Given the description of an element on the screen output the (x, y) to click on. 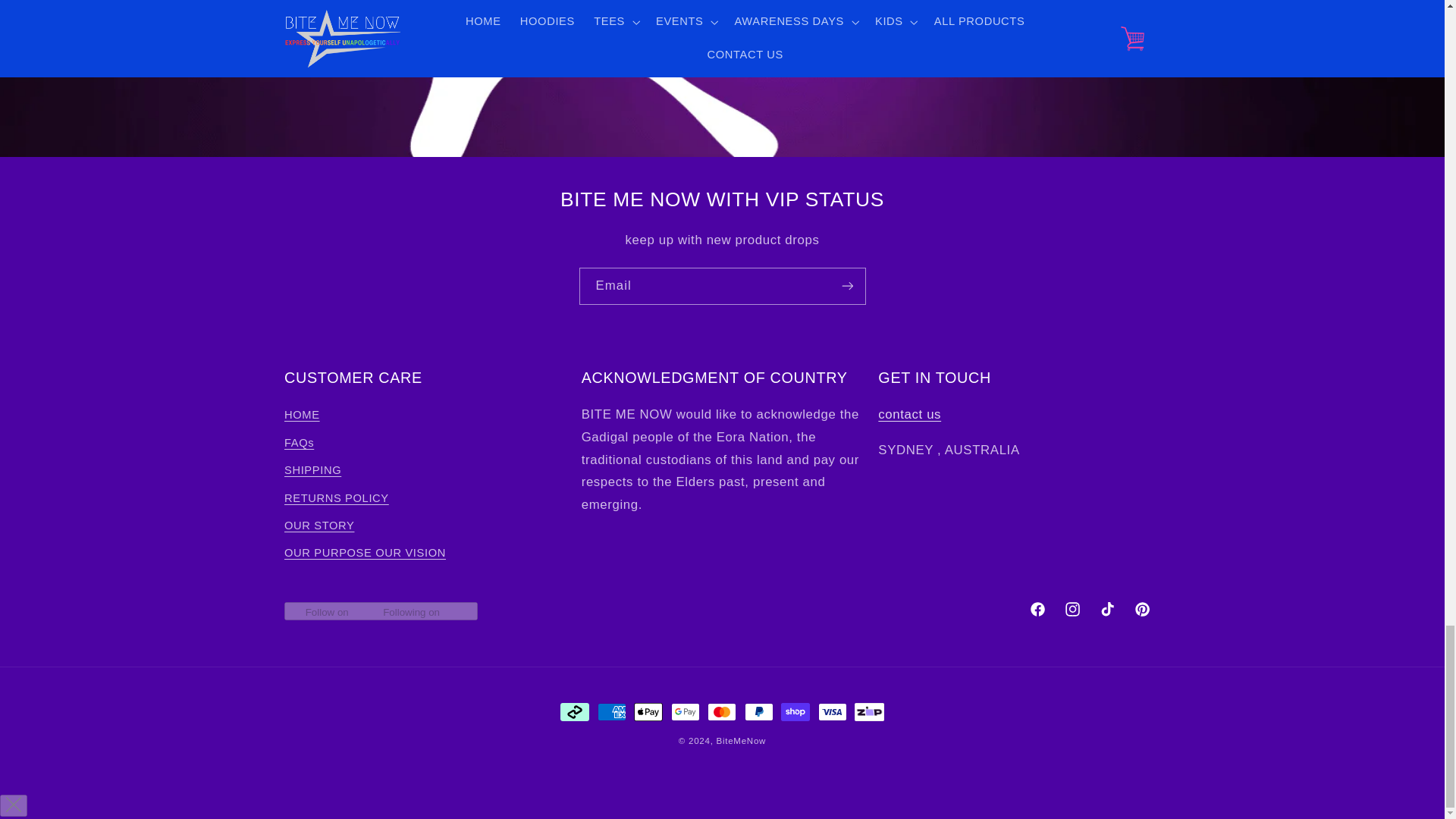
CONTACT BITE ME NOW (908, 414)
